Given the description of an element on the screen output the (x, y) to click on. 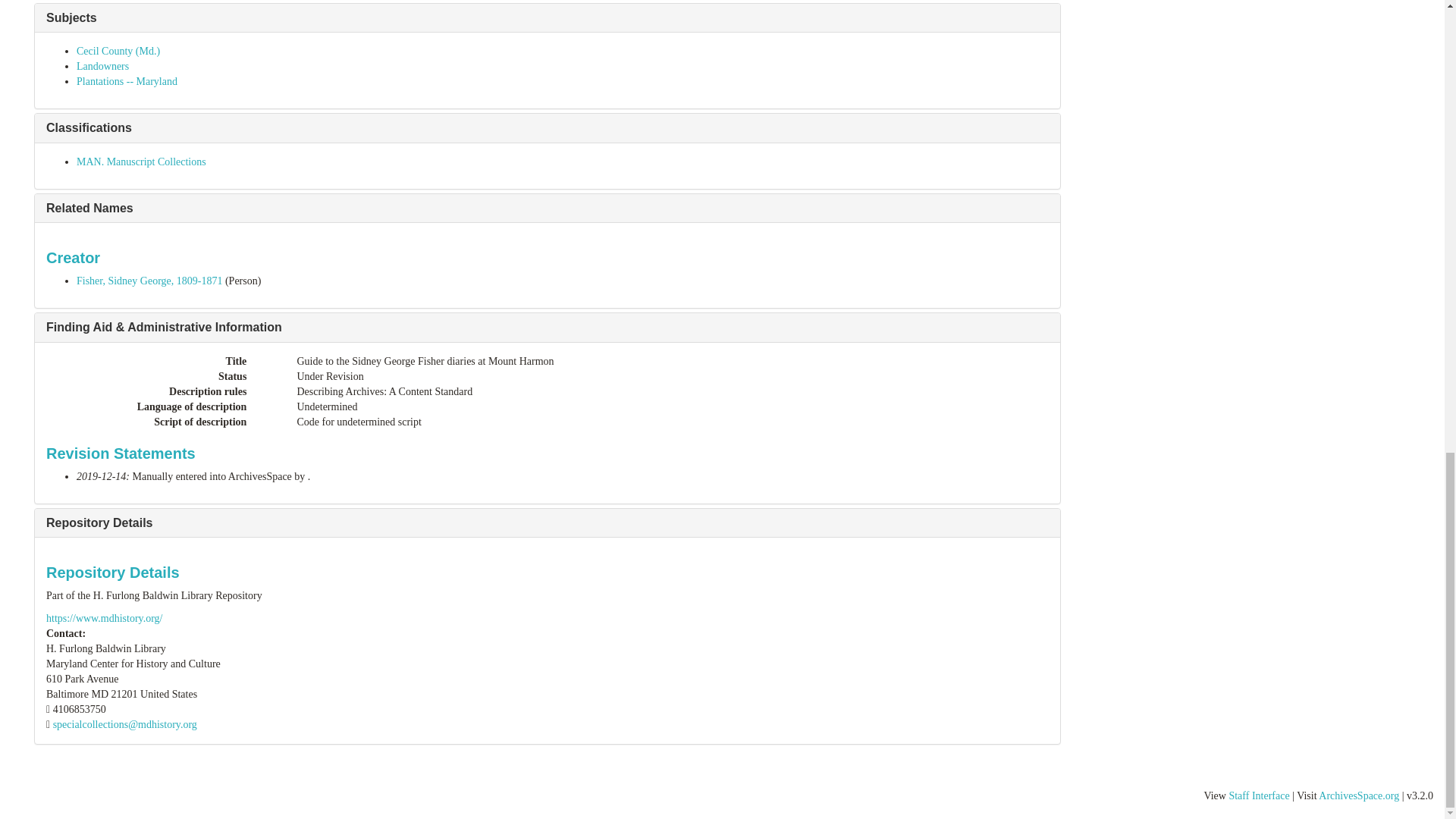
Classifications (89, 127)
Send email (124, 724)
Landowners (103, 66)
Plantations -- Maryland (127, 81)
Related Names (89, 207)
Repository Details (99, 522)
Subjects (71, 17)
Fisher, Sidney George, 1809-1871 (149, 280)
MAN. Manuscript Collections (141, 161)
